Given the description of an element on the screen output the (x, y) to click on. 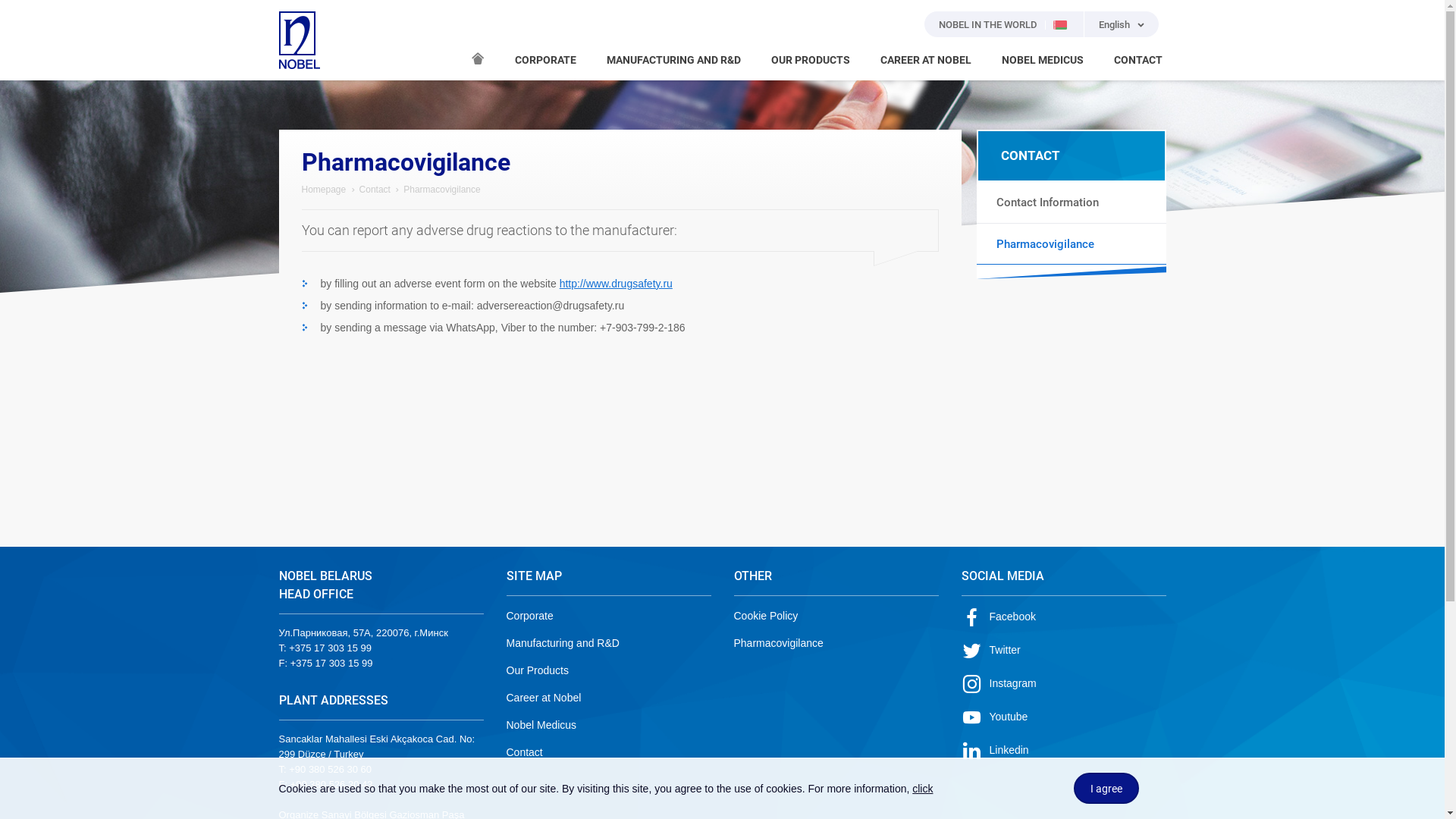
Contact Information Element type: text (1071, 202)
NOBEL MEDICUS Element type: text (1041, 60)
click Element type: text (922, 788)
Linkedin Element type: text (995, 749)
Our Products Element type: text (537, 670)
Pharmacovigilance Element type: text (1071, 243)
Contact Element type: text (374, 189)
Cookie Policy Element type: text (766, 615)
Pharmacovigilance Element type: text (778, 643)
Corporate Element type: text (529, 615)
Homepage Element type: text (323, 189)
Homepage Element type: hover (476, 58)
Contact Element type: text (524, 752)
Youtube Element type: text (994, 716)
Manufacturing and R&D Element type: text (562, 643)
Twitter Element type: text (990, 649)
Facebook Element type: text (998, 616)
NOBEL IN THE WORLD Element type: text (1004, 24)
http://www.drugsafety.ru Element type: text (615, 283)
NOBEL Element type: text (299, 40)
I agree Element type: text (1106, 787)
Career at Nobel Element type: text (543, 697)
CONTACT Element type: text (1137, 60)
Instagram Element type: text (998, 683)
Nobel Medicus Element type: text (541, 724)
